Given the description of an element on the screen output the (x, y) to click on. 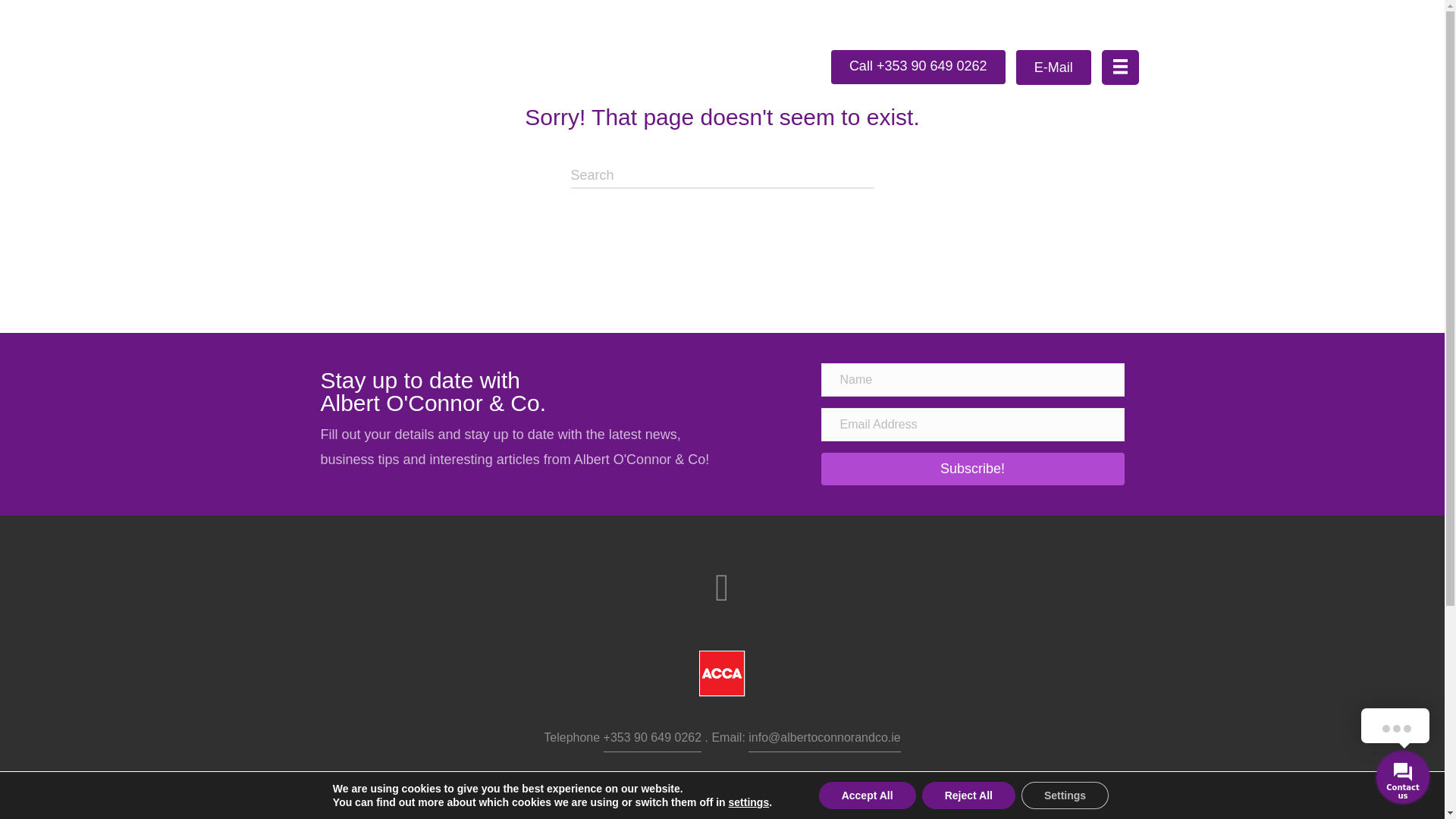
Reject All (967, 795)
E-Mail (1053, 67)
Albert (520, 65)
Subscribe! (972, 468)
ACCA LOGO RED (721, 673)
Settings (1065, 795)
Type and press Enter to search. (721, 175)
Accept All (866, 795)
